Given the description of an element on the screen output the (x, y) to click on. 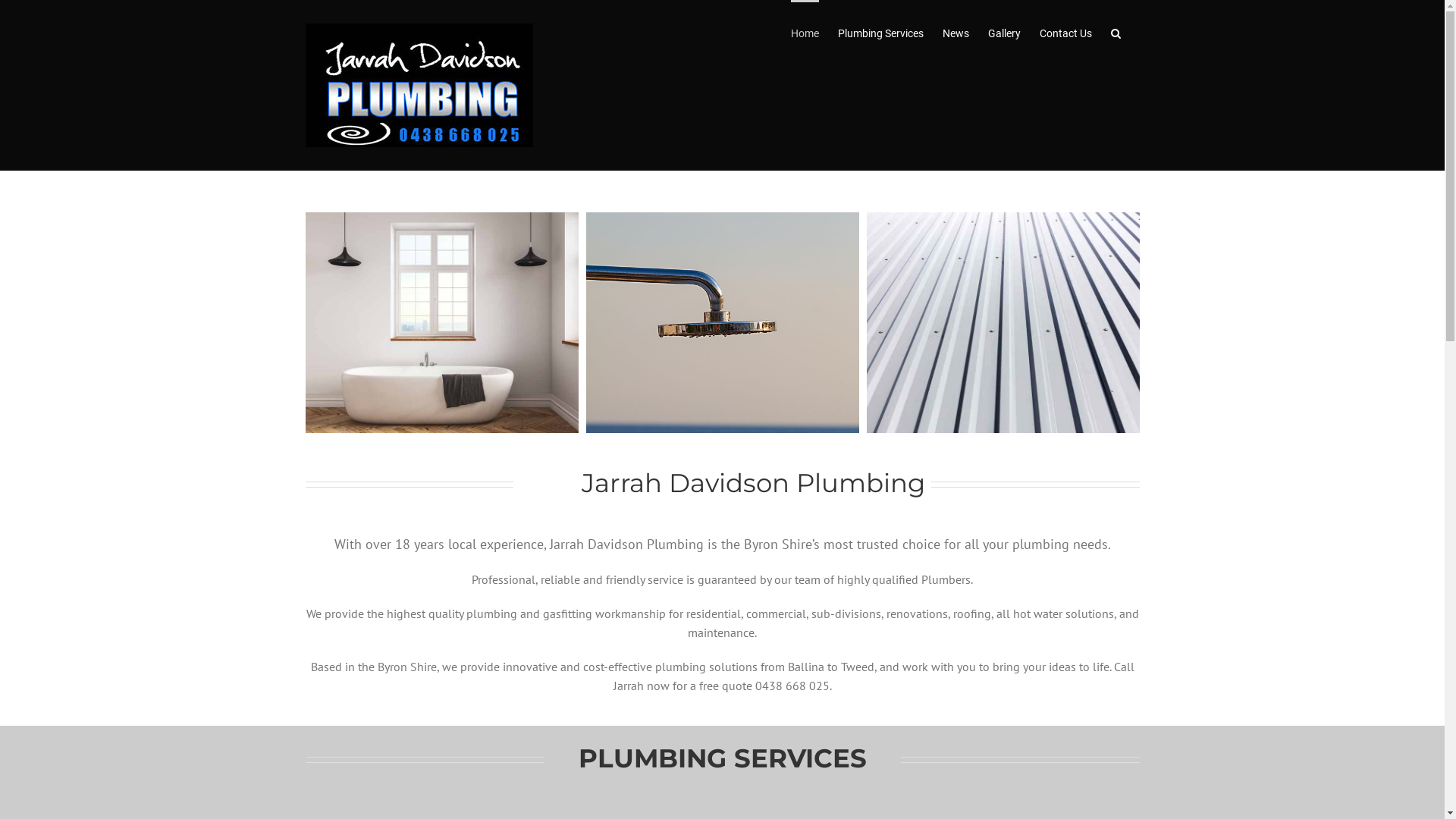
Home Element type: text (804, 31)
News Element type: text (954, 31)
Contact Us Element type: text (1064, 31)
Plumbing Services Element type: text (879, 31)
Gallery Element type: text (1003, 31)
Search Element type: hover (1115, 31)
